Given the description of an element on the screen output the (x, y) to click on. 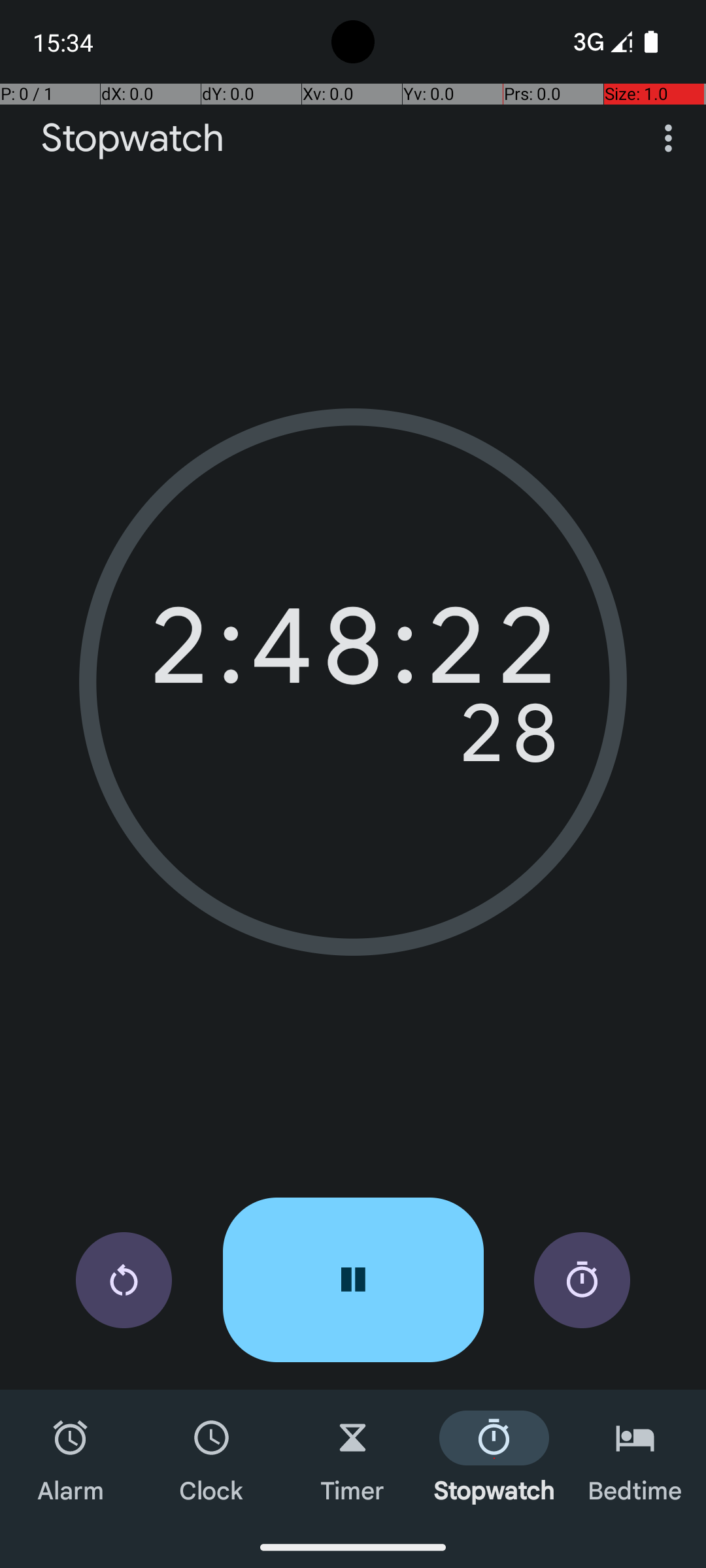
2:48:18 Element type: android.widget.TextView (352, 652)
